Given the description of an element on the screen output the (x, y) to click on. 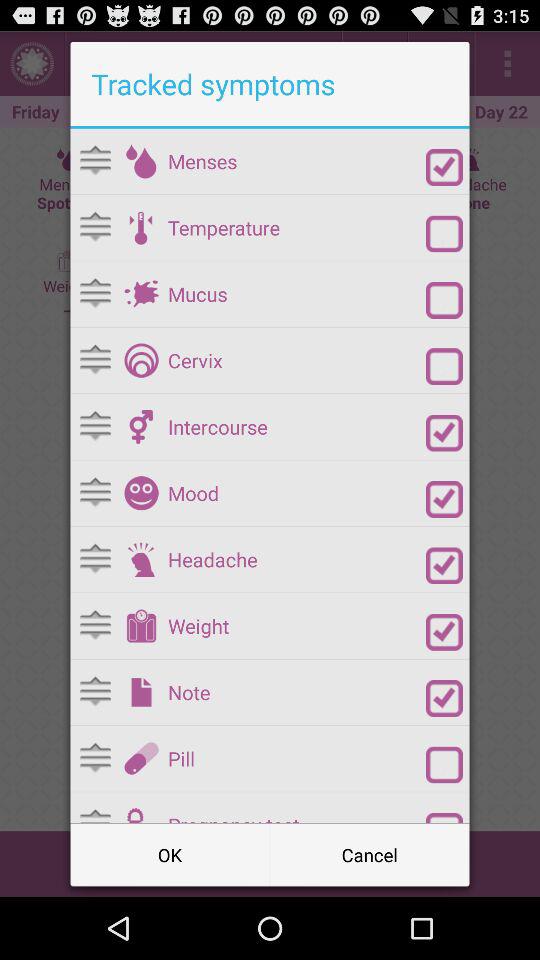
weight checkbox (444, 631)
